Given the description of an element on the screen output the (x, y) to click on. 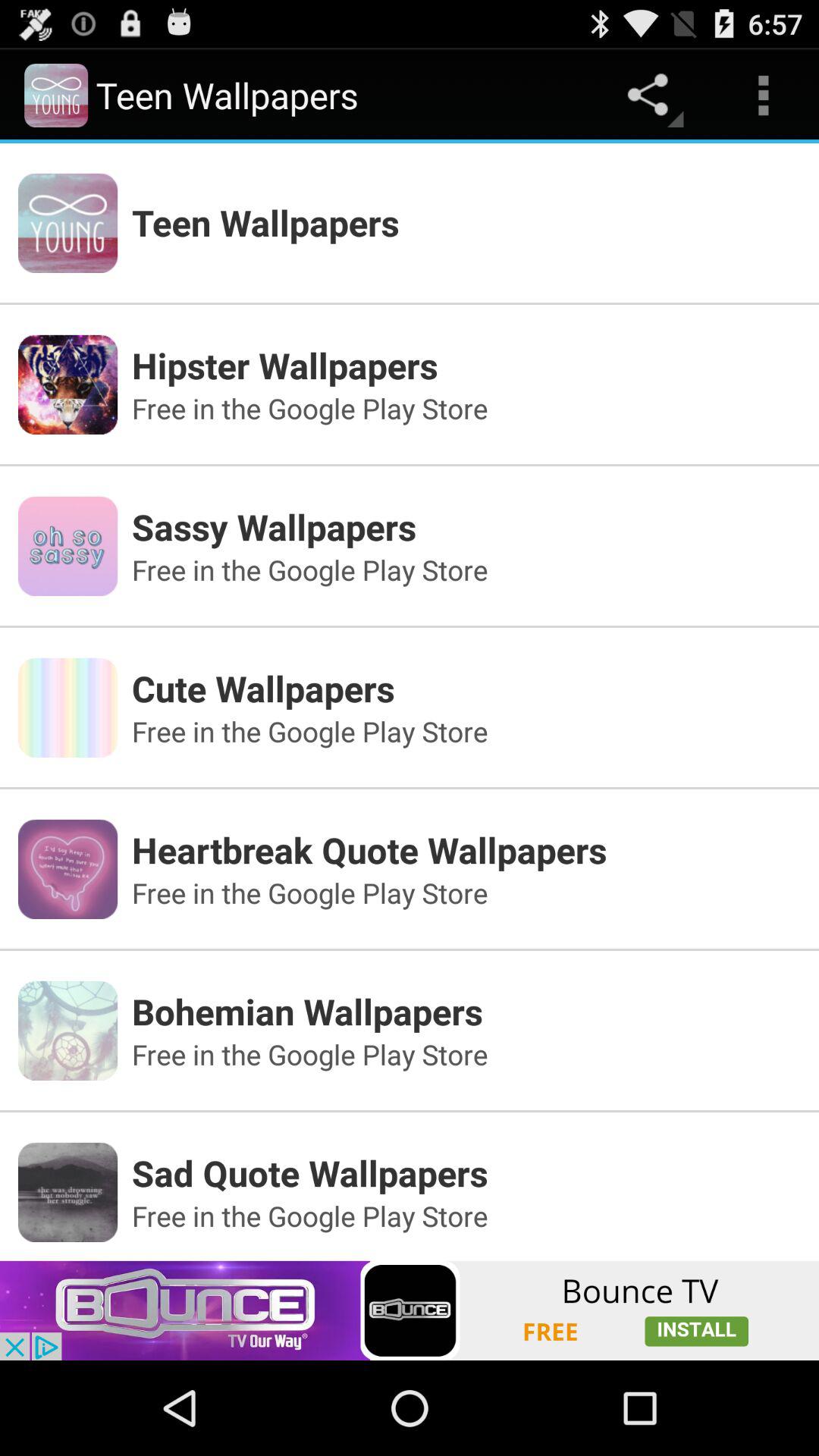
go to advertisement (409, 1310)
